Given the description of an element on the screen output the (x, y) to click on. 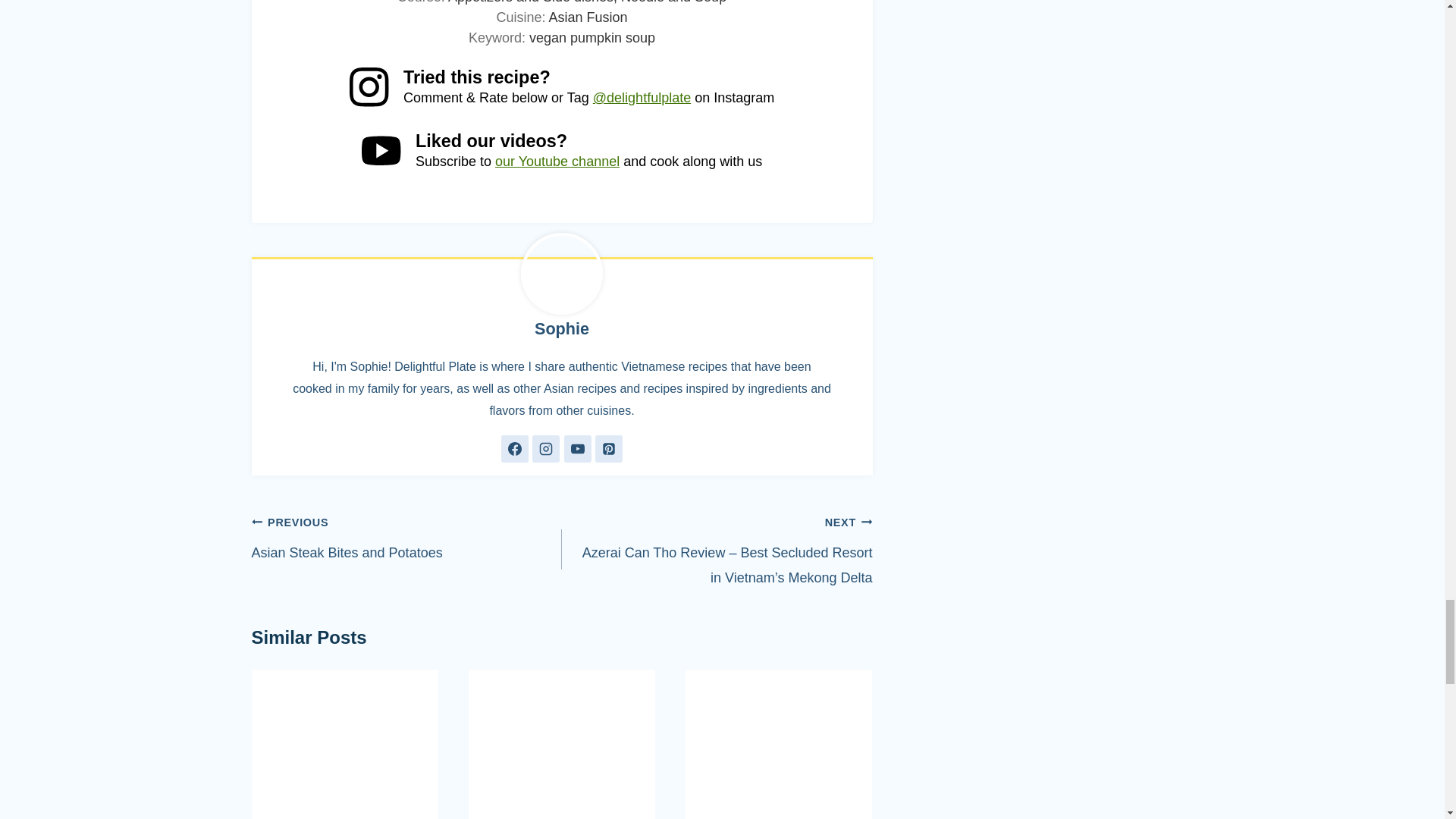
Follow Sophie on Facebook (514, 448)
Follow Sophie on Instagram (545, 448)
Follow Sophie on Youtube (577, 448)
Follow Sophie on Pinterest (609, 448)
Posts by Sophie (561, 328)
